Given the description of an element on the screen output the (x, y) to click on. 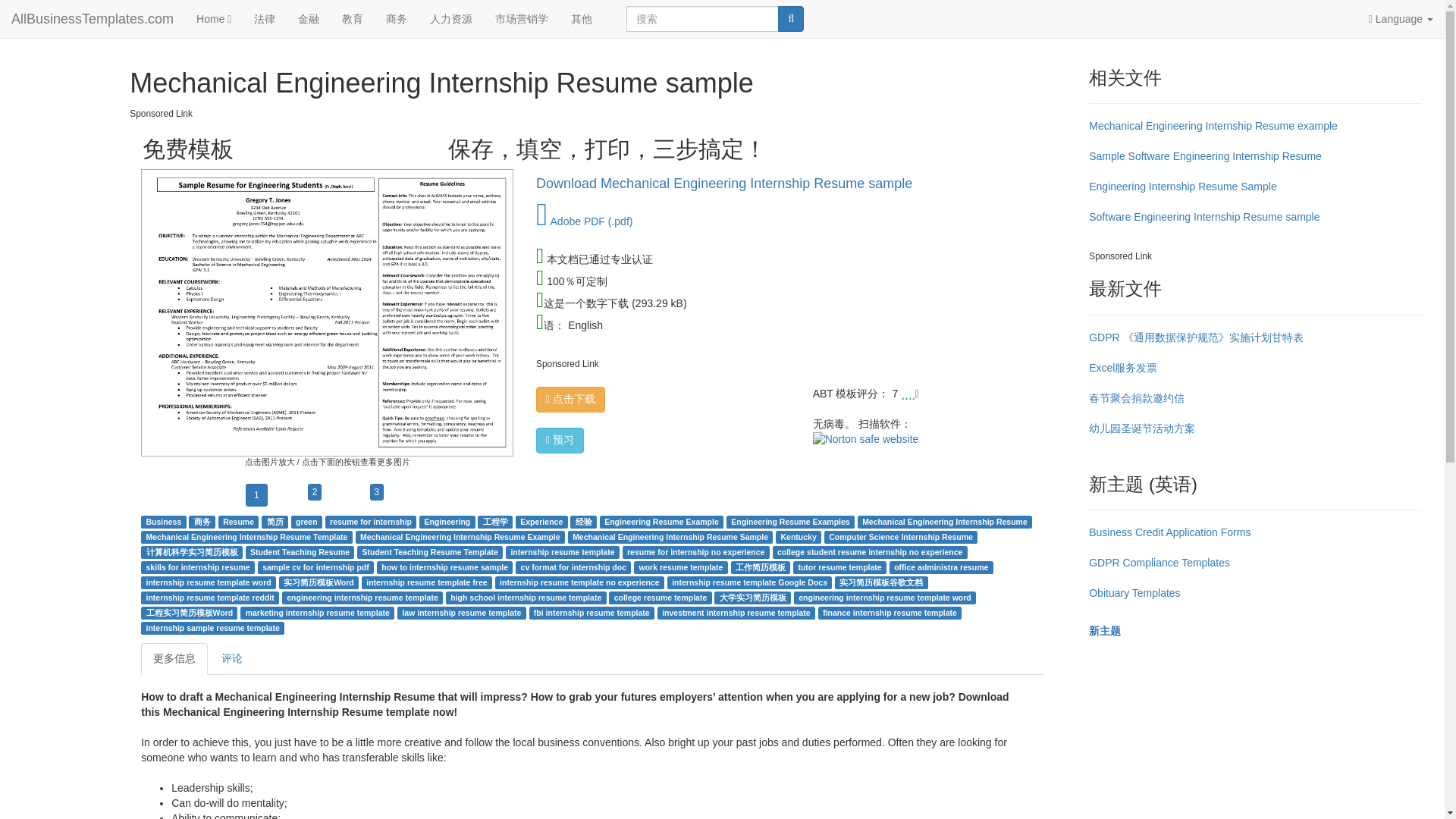
Download Mechanical Engineering Internship Resume sample (723, 183)
resume for internship (371, 521)
Business (164, 521)
1 (256, 495)
Home (213, 18)
Experience (540, 521)
Engineering Resume Example (661, 521)
Resume (237, 521)
green (306, 521)
AllBusinessTemplates.com (92, 18)
Engineering (447, 521)
Engineering Resume Examples (789, 521)
